Given the description of an element on the screen output the (x, y) to click on. 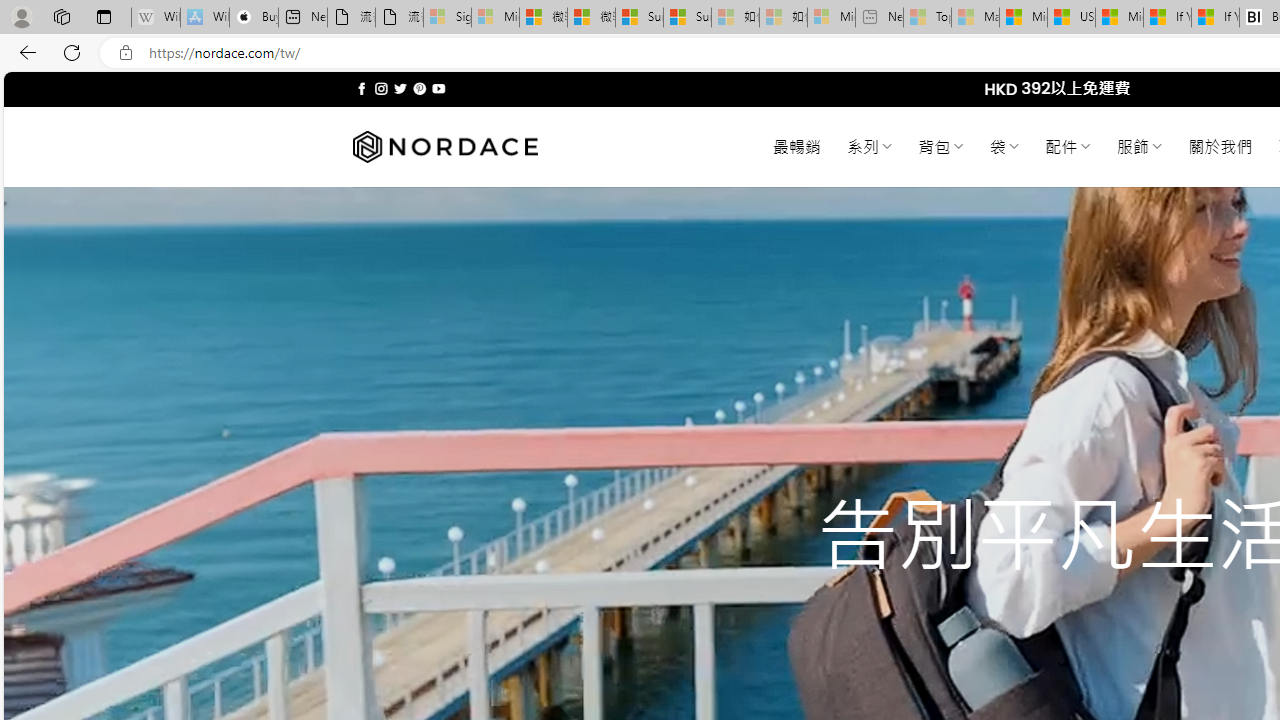
Follow on Twitter (400, 88)
